Given the description of an element on the screen output the (x, y) to click on. 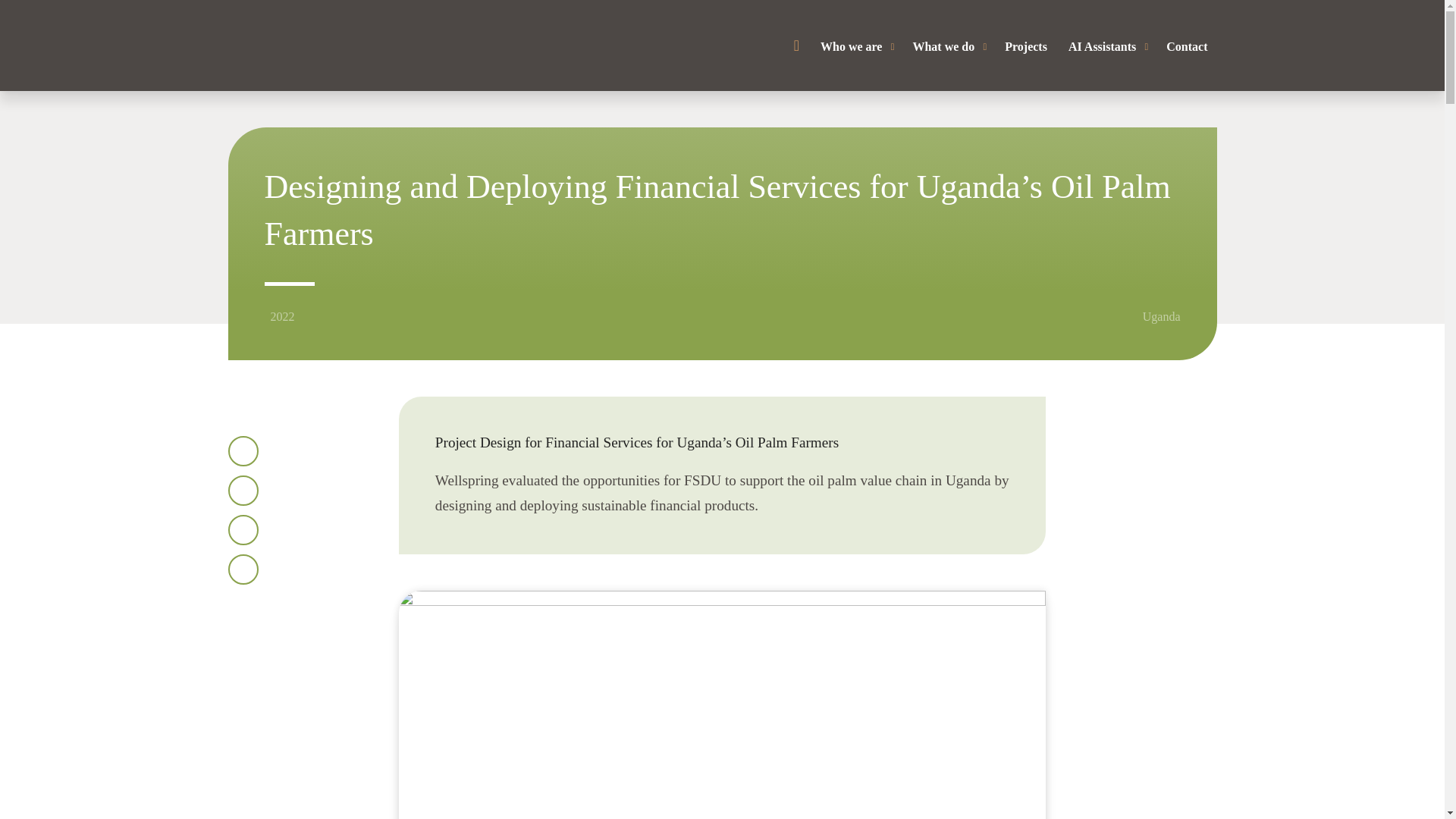
AI Assistants (1106, 46)
Contact (1186, 46)
Who we are (854, 46)
What we do (947, 46)
Projects (1026, 46)
Wellspring (308, 45)
